Given the description of an element on the screen output the (x, y) to click on. 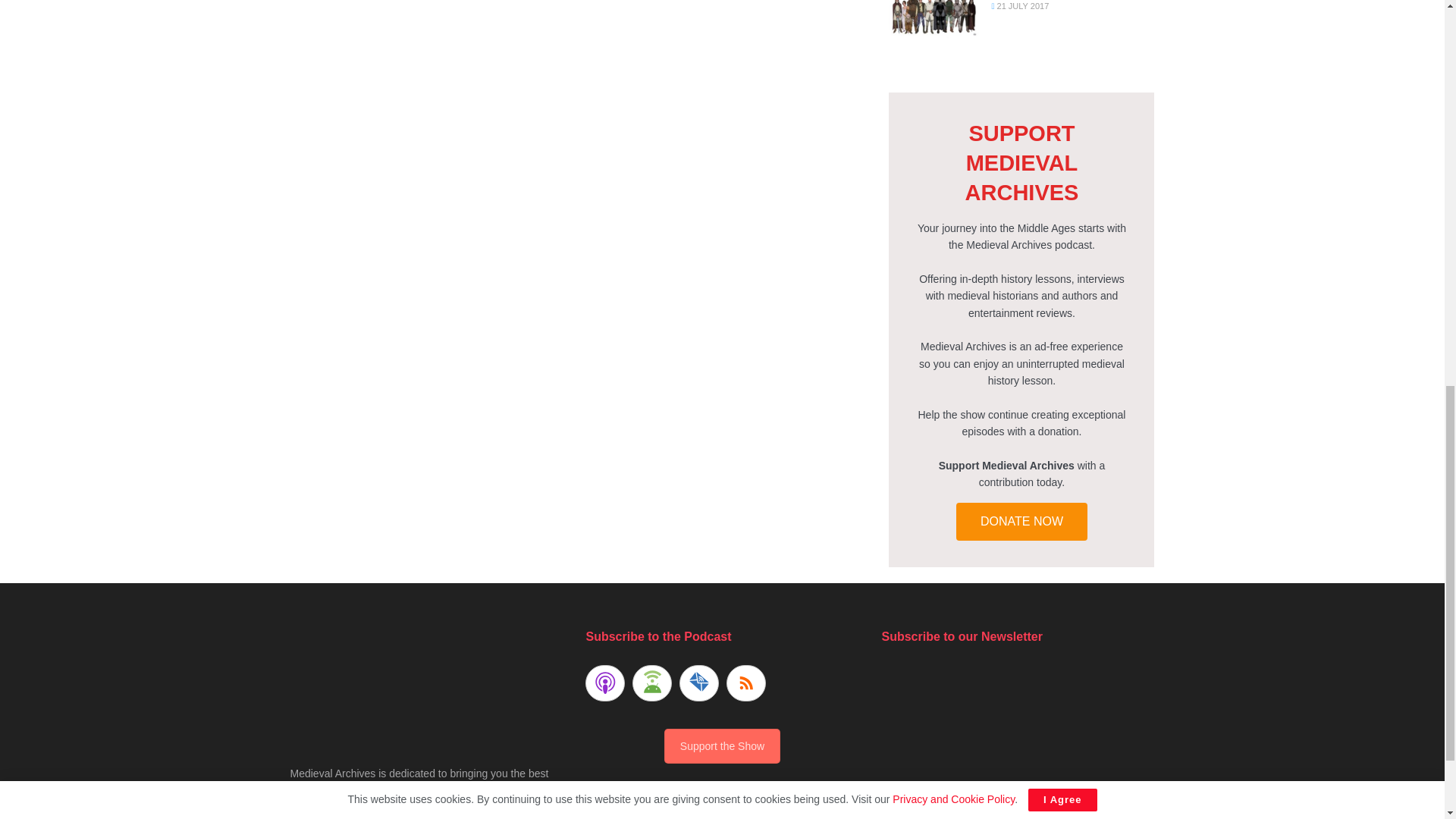
Subscribe by Email (699, 683)
Subscribe on Apple Podcasts (604, 683)
Subscribe via RSS (745, 683)
Subscribe on Android (651, 683)
